Given the description of an element on the screen output the (x, y) to click on. 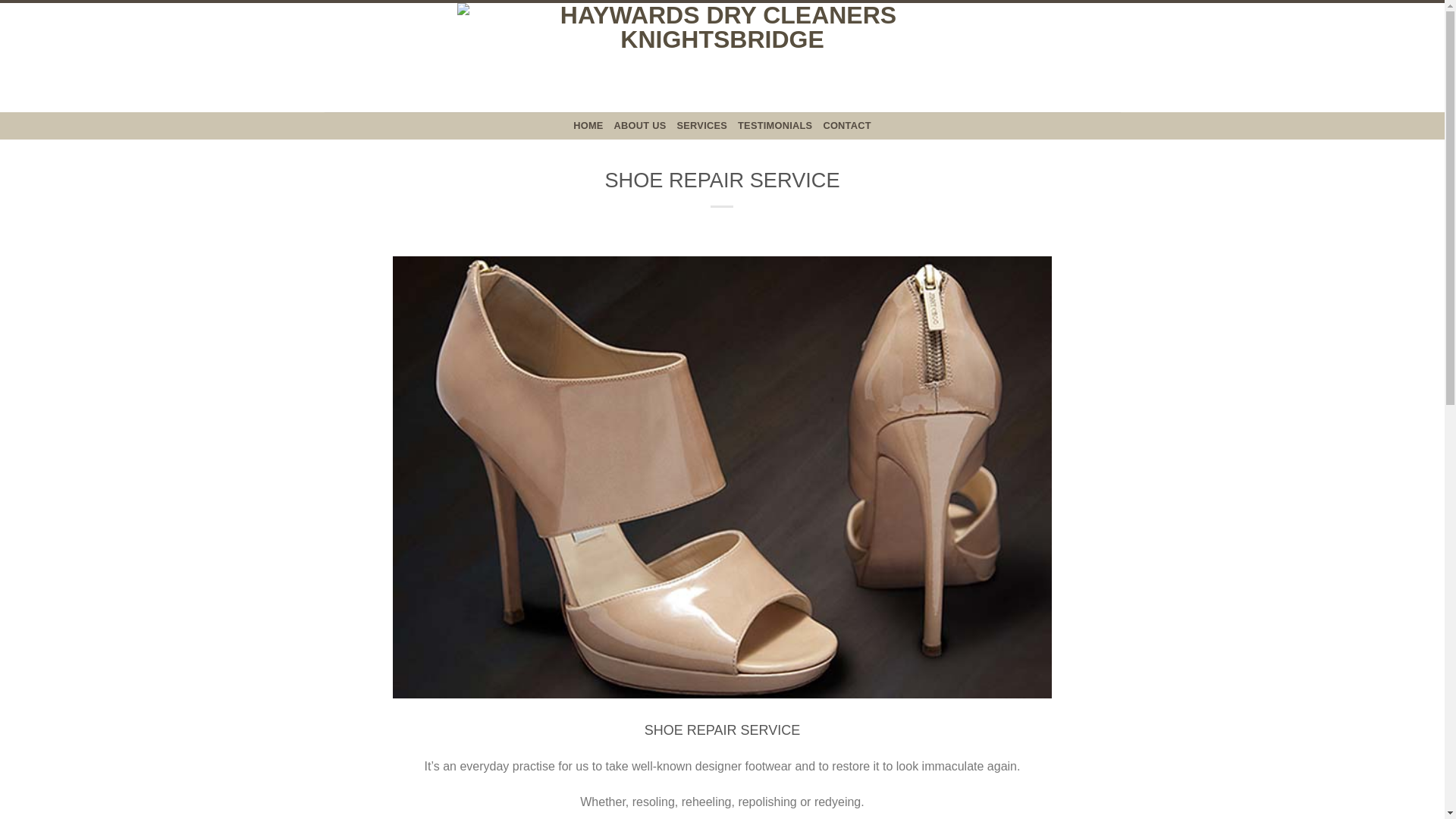
HOME (587, 125)
CONTACT (846, 125)
TESTIMONIALS (775, 125)
SERVICES (701, 125)
ABOUT US (640, 125)
